Given the description of an element on the screen output the (x, y) to click on. 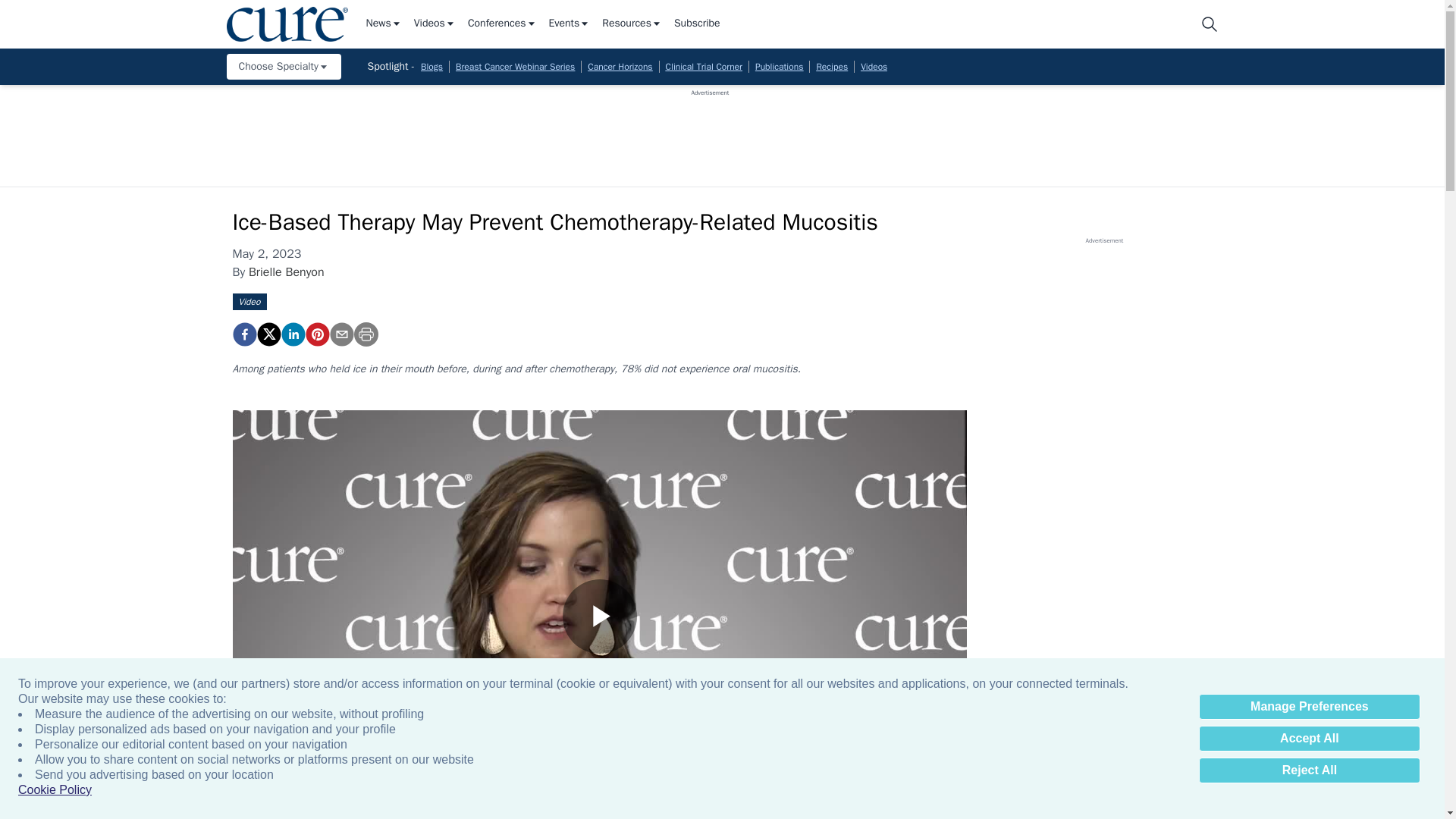
Ice-Based Therapy May Prevent Chemotherapy-Related Mucositis (316, 334)
Play Video (599, 616)
Videos (434, 23)
Manage Preferences (1309, 706)
Events (569, 23)
Reject All (1309, 769)
Cookie Policy (54, 789)
Ice-Based Therapy May Prevent Chemotherapy-Related Mucositis (243, 334)
Accept All (1309, 738)
Conferences (502, 23)
3rd party ad content (709, 131)
News (383, 23)
